Given the description of an element on the screen output the (x, y) to click on. 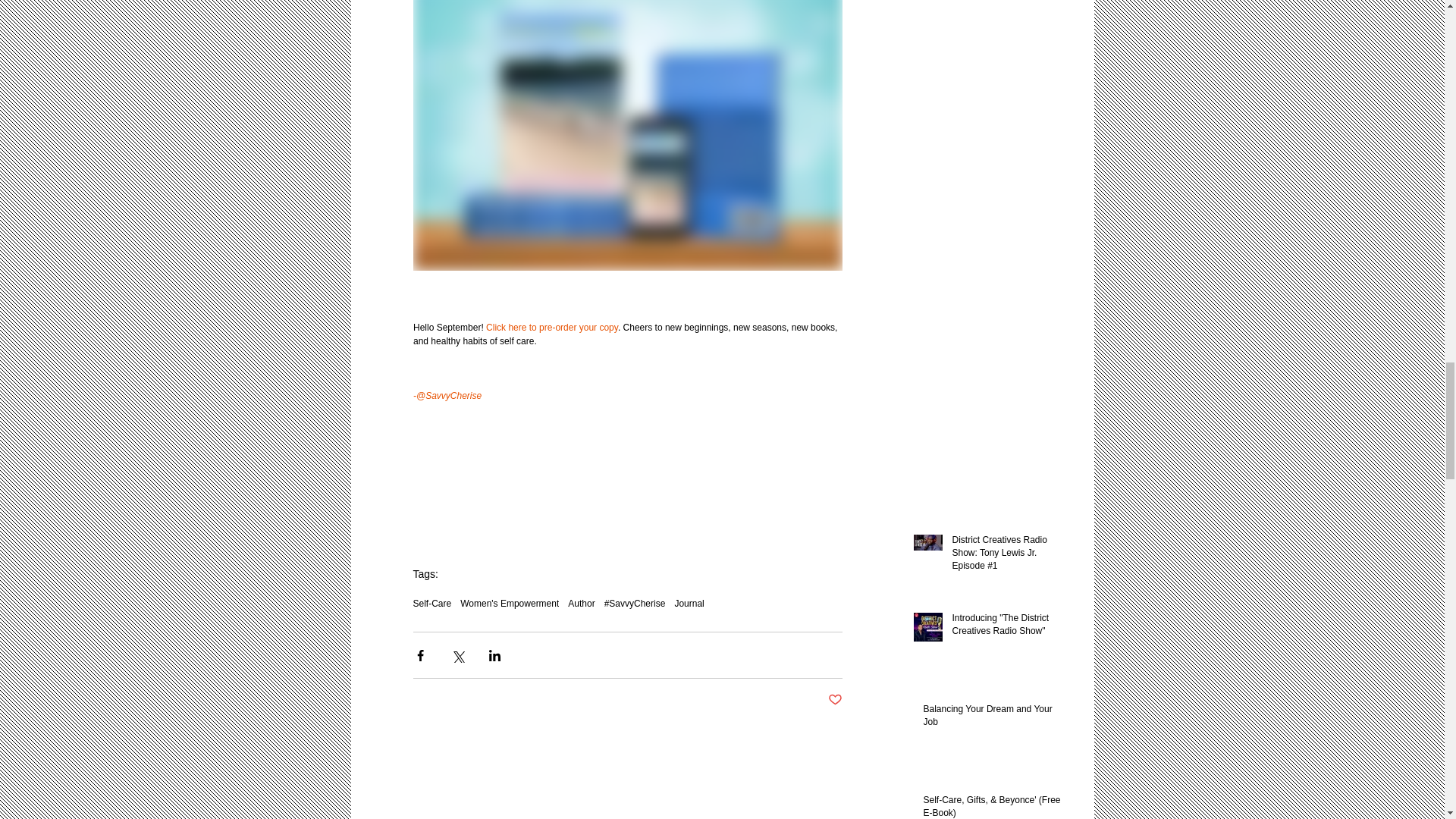
Journal (688, 603)
Author (580, 603)
Women's Empowerment (509, 603)
Click here to pre-order your copy (551, 327)
Post not marked as liked (835, 700)
Self-Care (431, 603)
Introducing "The District Creatives Radio Show" (1006, 627)
Balancing Your Dream and Your Job (992, 718)
